Given the description of an element on the screen output the (x, y) to click on. 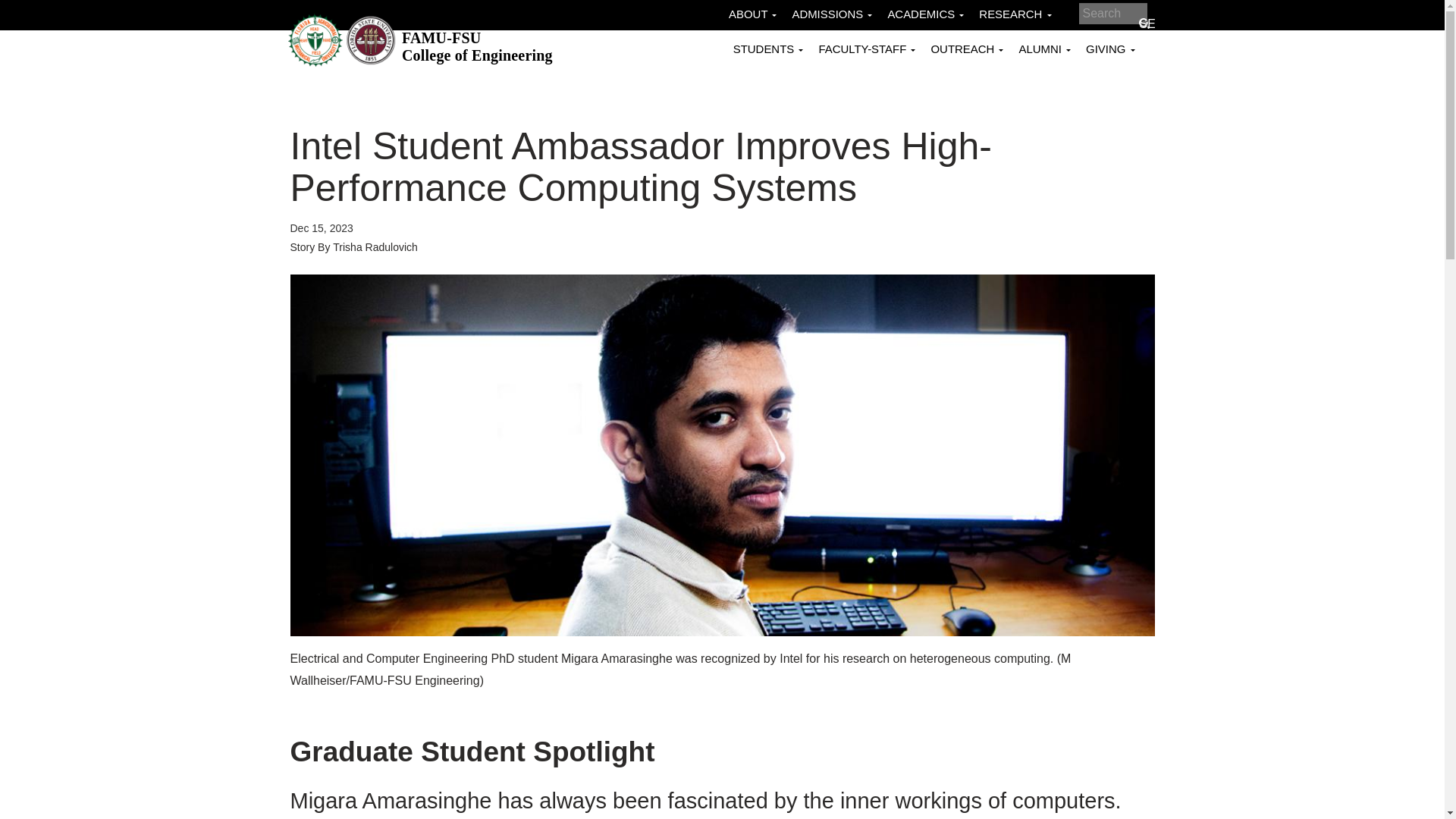
ACADEMICS (925, 13)
ABOUT (752, 13)
ADMISSIONS (831, 13)
SEARCH (477, 46)
